Given the description of an element on the screen output the (x, y) to click on. 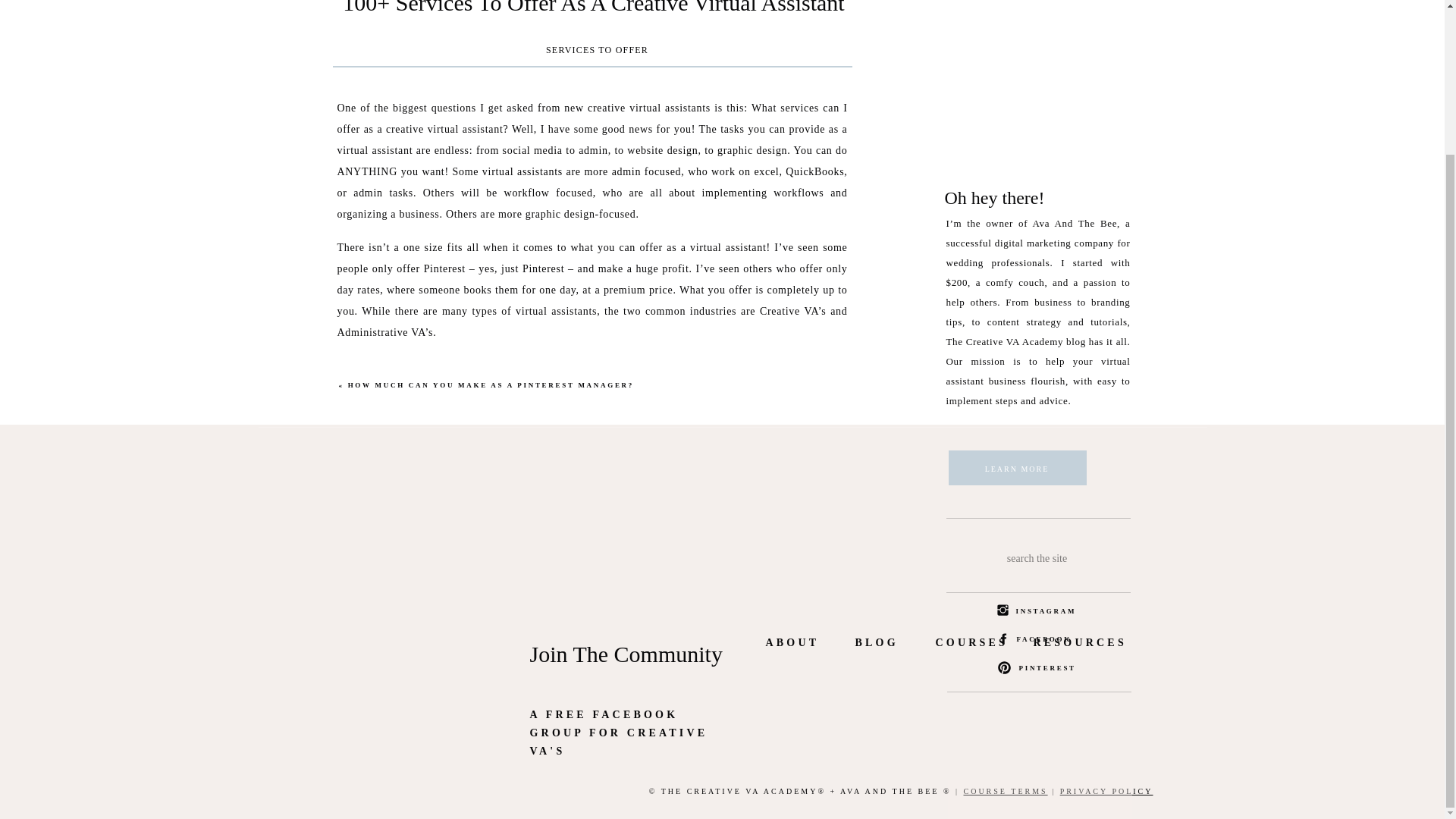
PRIVACY POLICY (1106, 791)
COURSE TERMS (1004, 791)
PINTEREST (1048, 668)
HOW MUCH CAN YOU MAKE AS A PINTEREST MANAGER? (490, 385)
SERVICES TO OFFER (596, 50)
LEARN MORE (1015, 470)
INSTAGRAM (1046, 612)
Ava And The Bee (674, 764)
FACEBOOK (1045, 640)
